Given the description of an element on the screen output the (x, y) to click on. 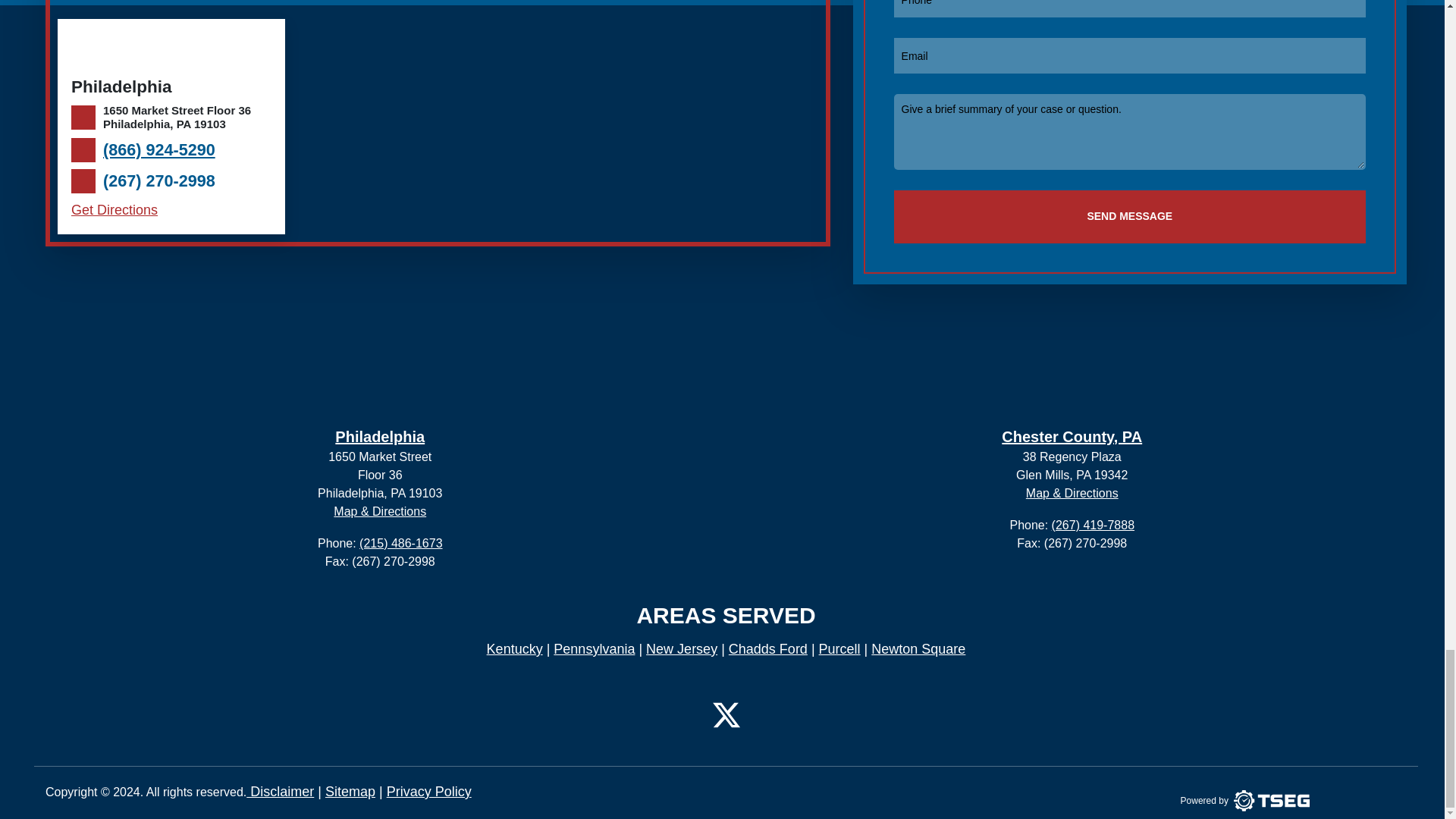
SEND MESSAGE (1129, 216)
